Given the description of an element on the screen output the (x, y) to click on. 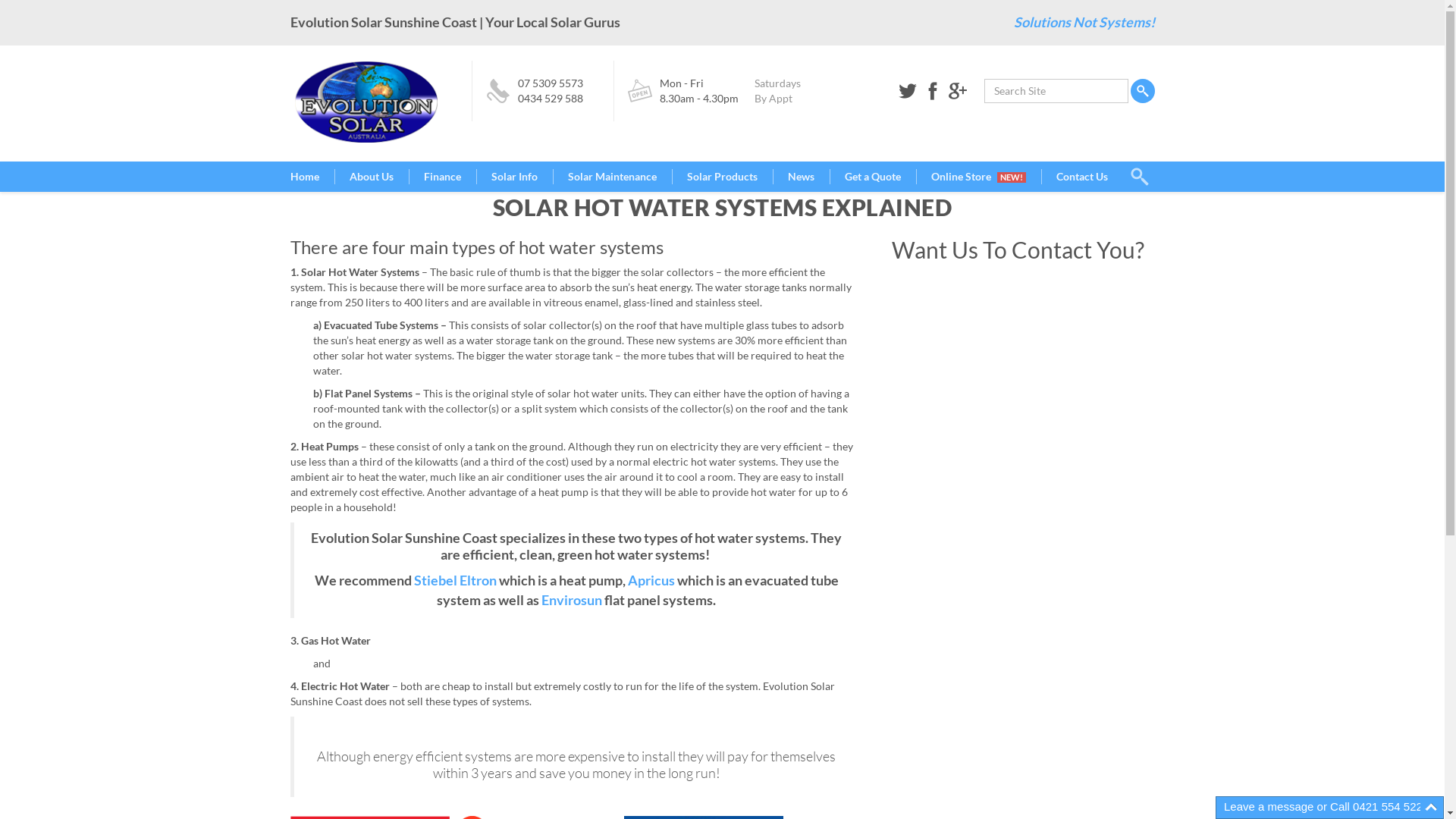
About Us Element type: text (370, 176)
Finance Element type: text (441, 176)
Solar Maintenance Element type: text (611, 176)
Twitter Element type: hover (907, 90)
Google Plus Element type: hover (957, 90)
Envirosun Element type: text (571, 600)
Apricus Element type: text (650, 580)
News Element type: text (799, 176)
Home Element type: text (311, 176)
Online Store NEW! Element type: text (978, 176)
Contact Us Element type: text (1082, 176)
Facebook Element type: hover (931, 90)
Solar Products Element type: text (721, 176)
Solar Info Element type: text (514, 176)
Up to date weather for Sunshine Coast Element type: text (953, 331)
Get a Quote Element type: text (872, 176)
Stiebel Eltron Element type: text (455, 580)
